Given the description of an element on the screen output the (x, y) to click on. 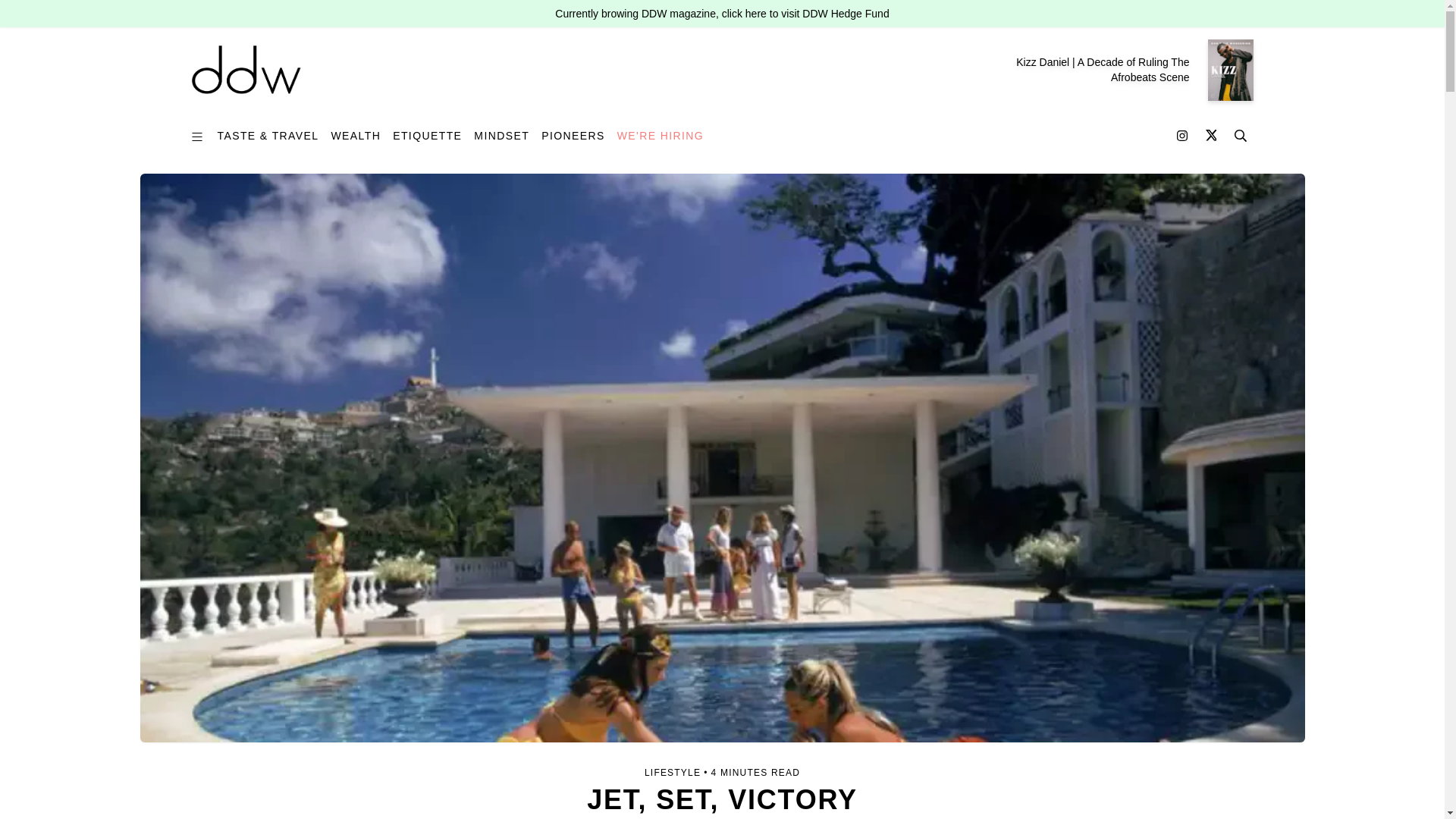
LIFESTYLE (672, 772)
